Given the description of an element on the screen output the (x, y) to click on. 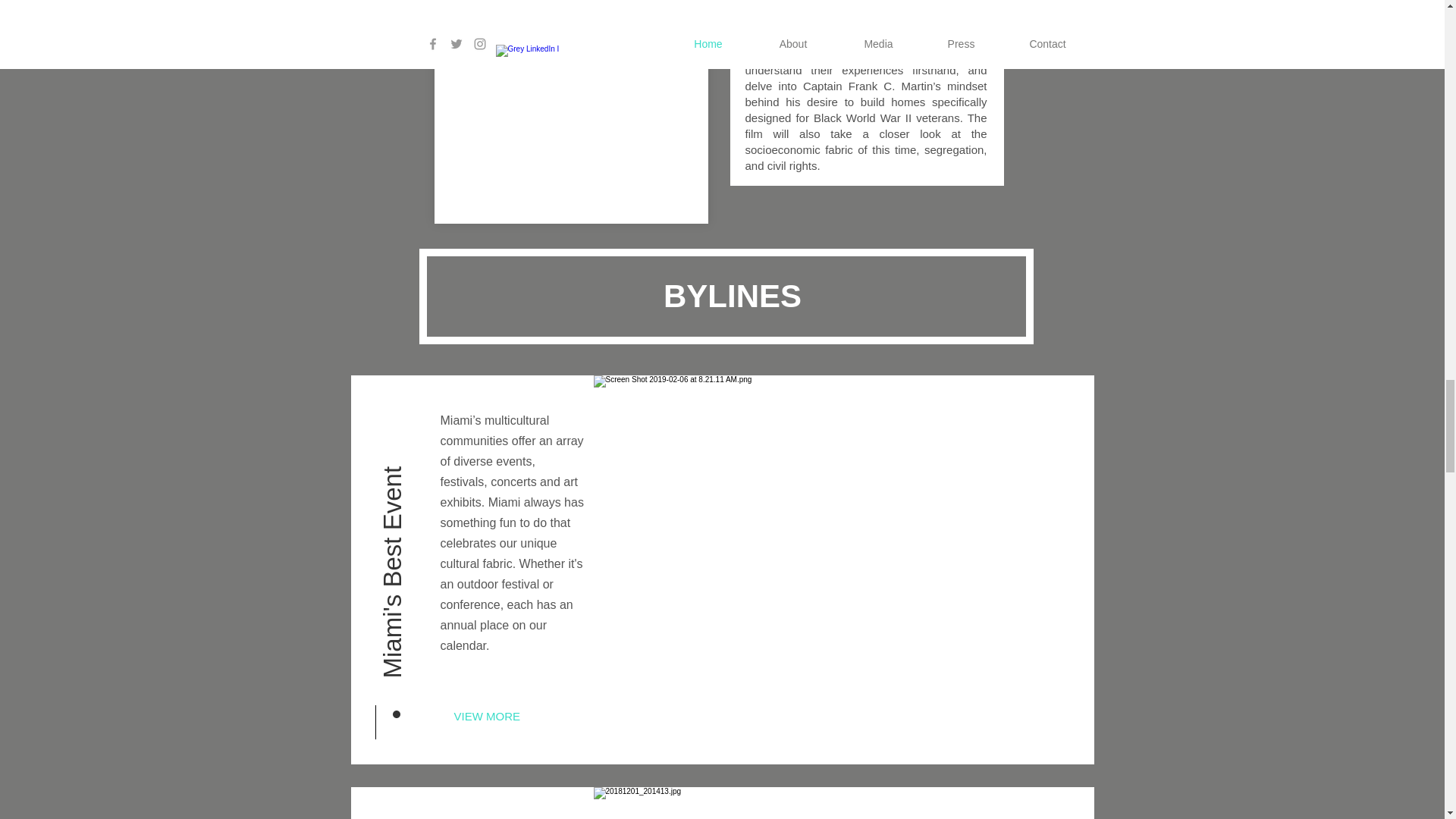
VIEW MORE (502, 715)
